Given the description of an element on the screen output the (x, y) to click on. 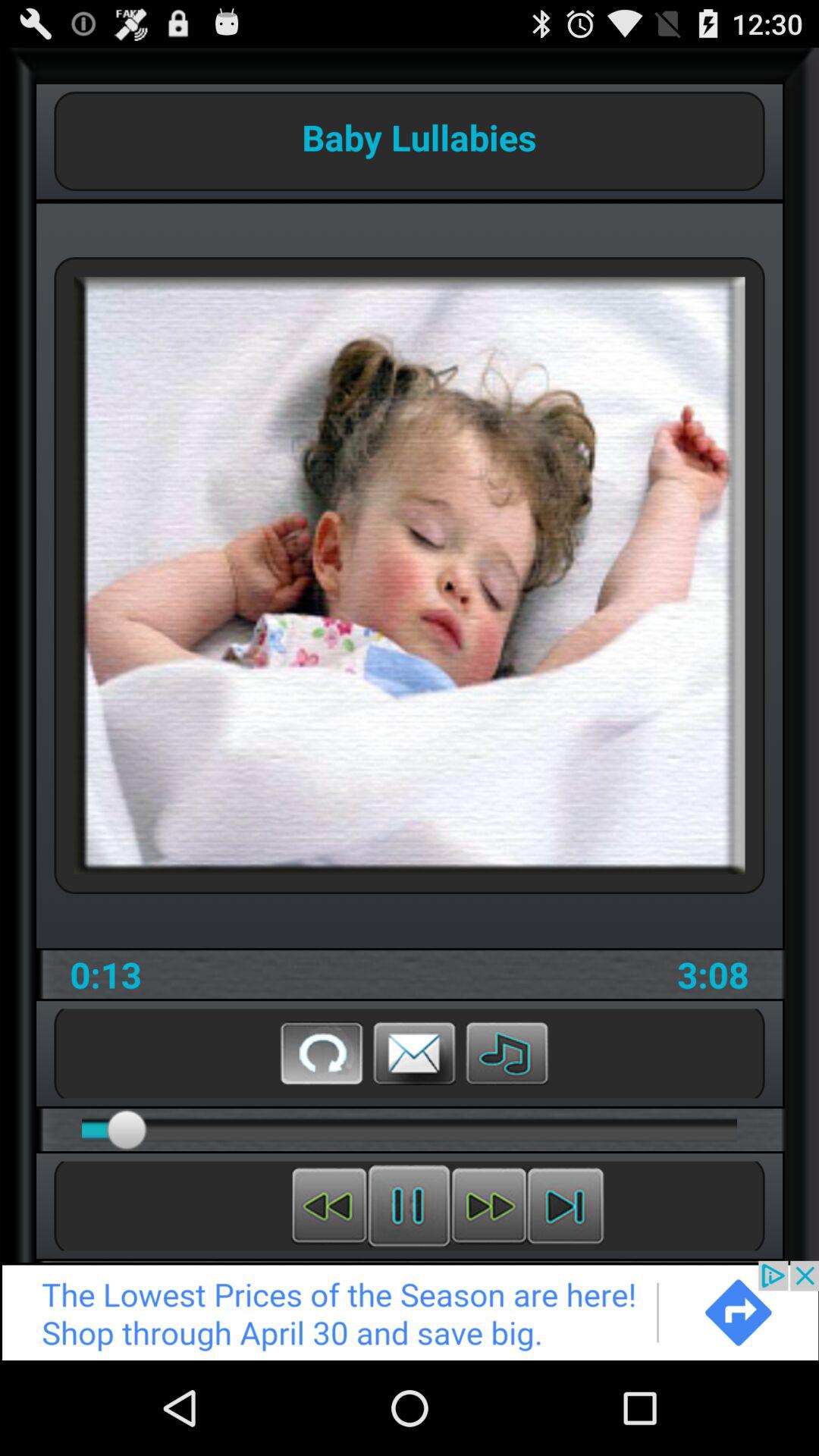
play a song (506, 1053)
